Given the description of an element on the screen output the (x, y) to click on. 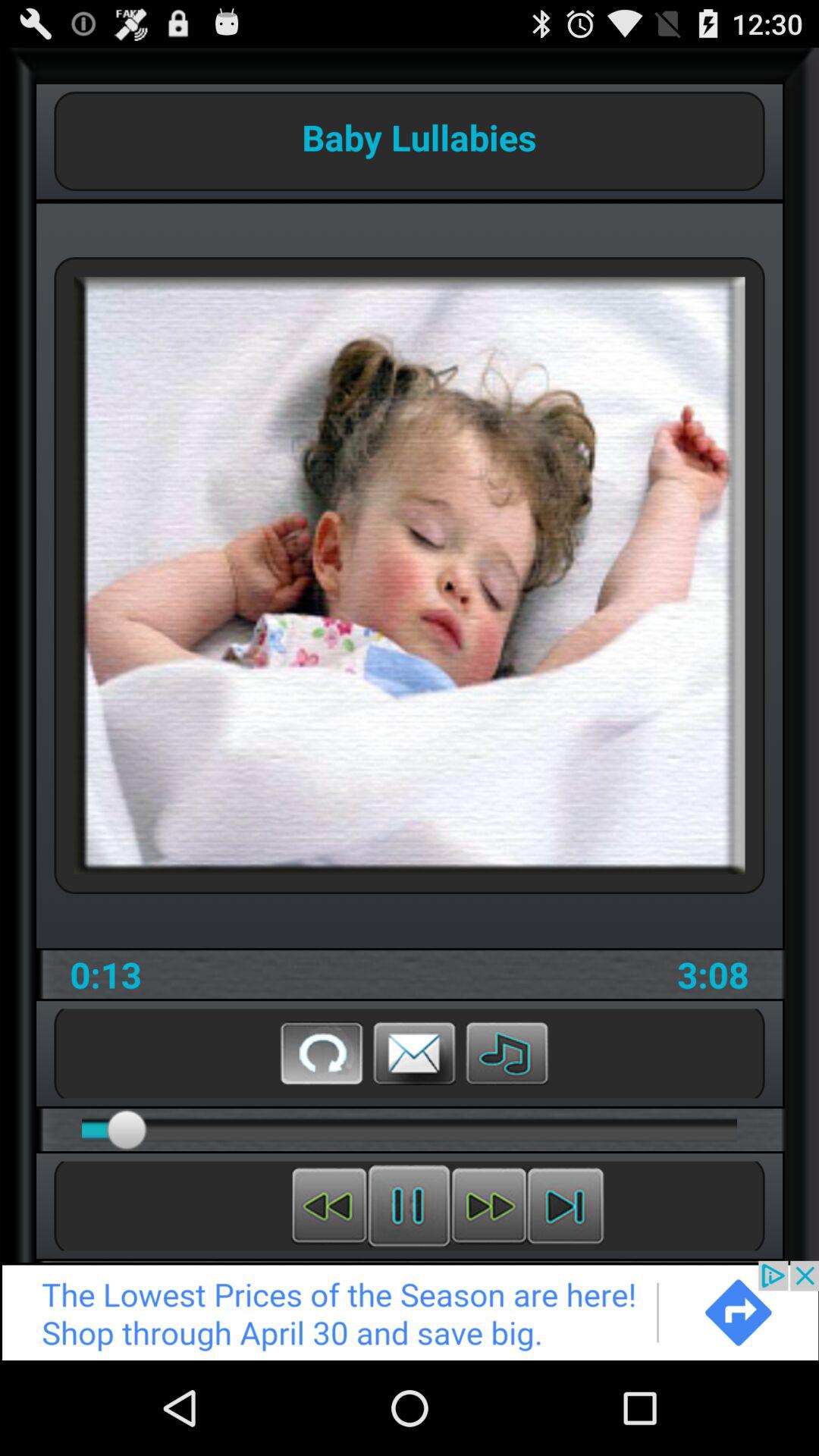
play a song (506, 1053)
